Given the description of an element on the screen output the (x, y) to click on. 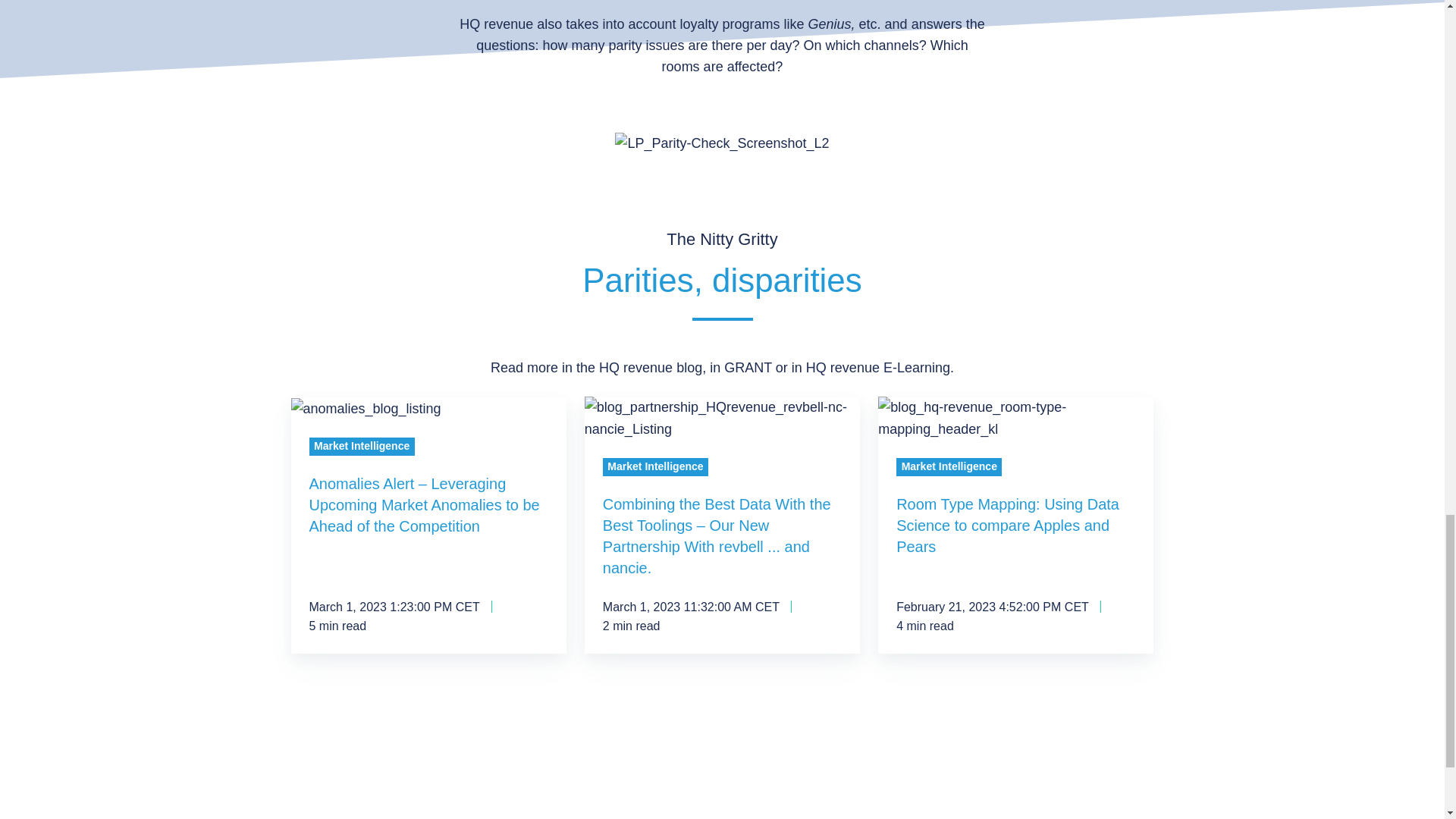
Market Intelligence (948, 466)
Market Intelligence (361, 446)
Market Intelligence (654, 466)
